Given the description of an element on the screen output the (x, y) to click on. 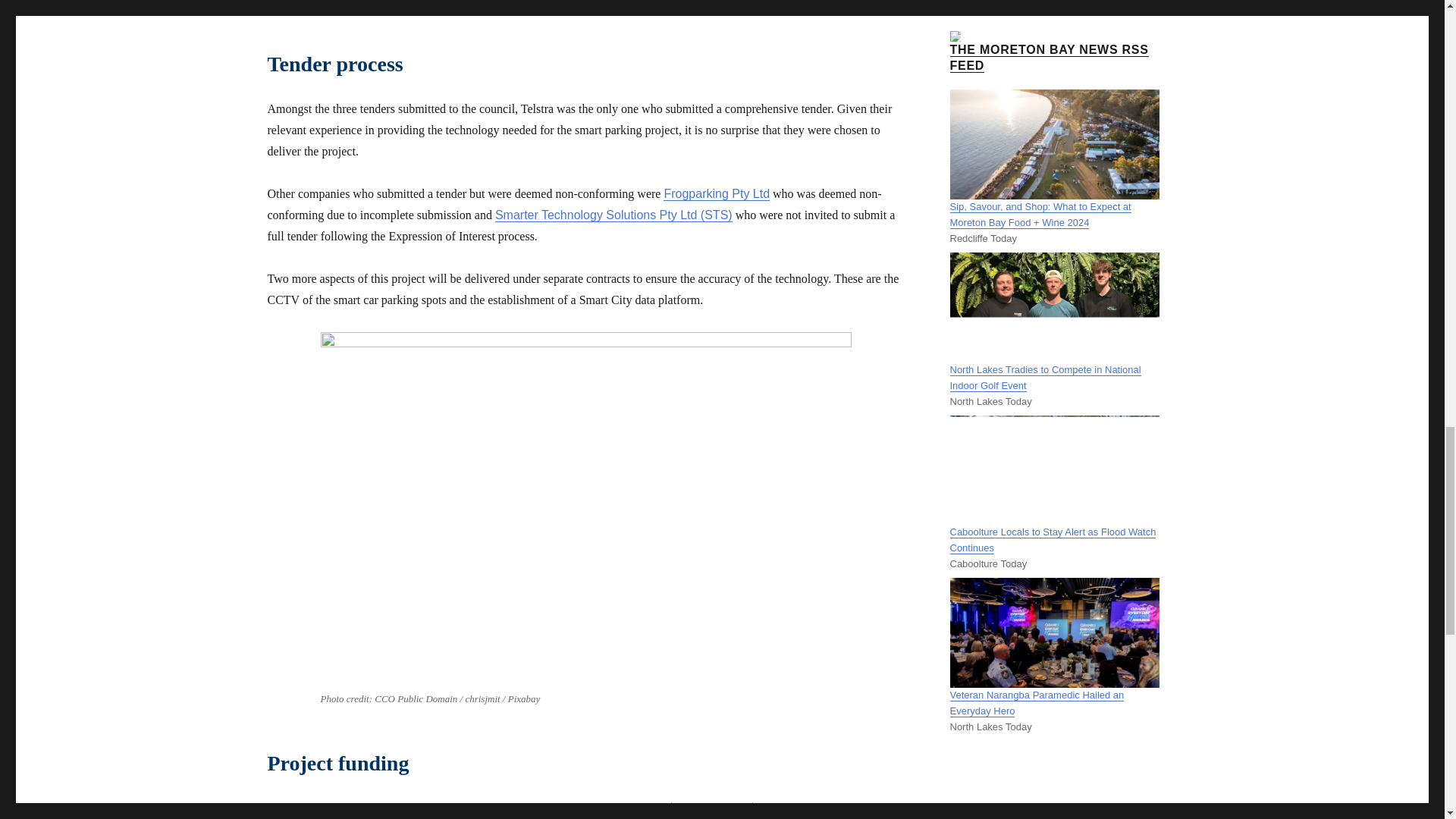
THE MORETON BAY NEWS RSS FEED (1048, 57)
Veteran Narangba Paramedic Hailed an Everyday Hero (1036, 702)
Frogparking Pty Ltd (716, 193)
North Lakes Tradies to Compete in National Indoor Golf Event (1044, 377)
Caboolture Locals to Stay Alert as Flood Watch Continues (1052, 539)
